Given the description of an element on the screen output the (x, y) to click on. 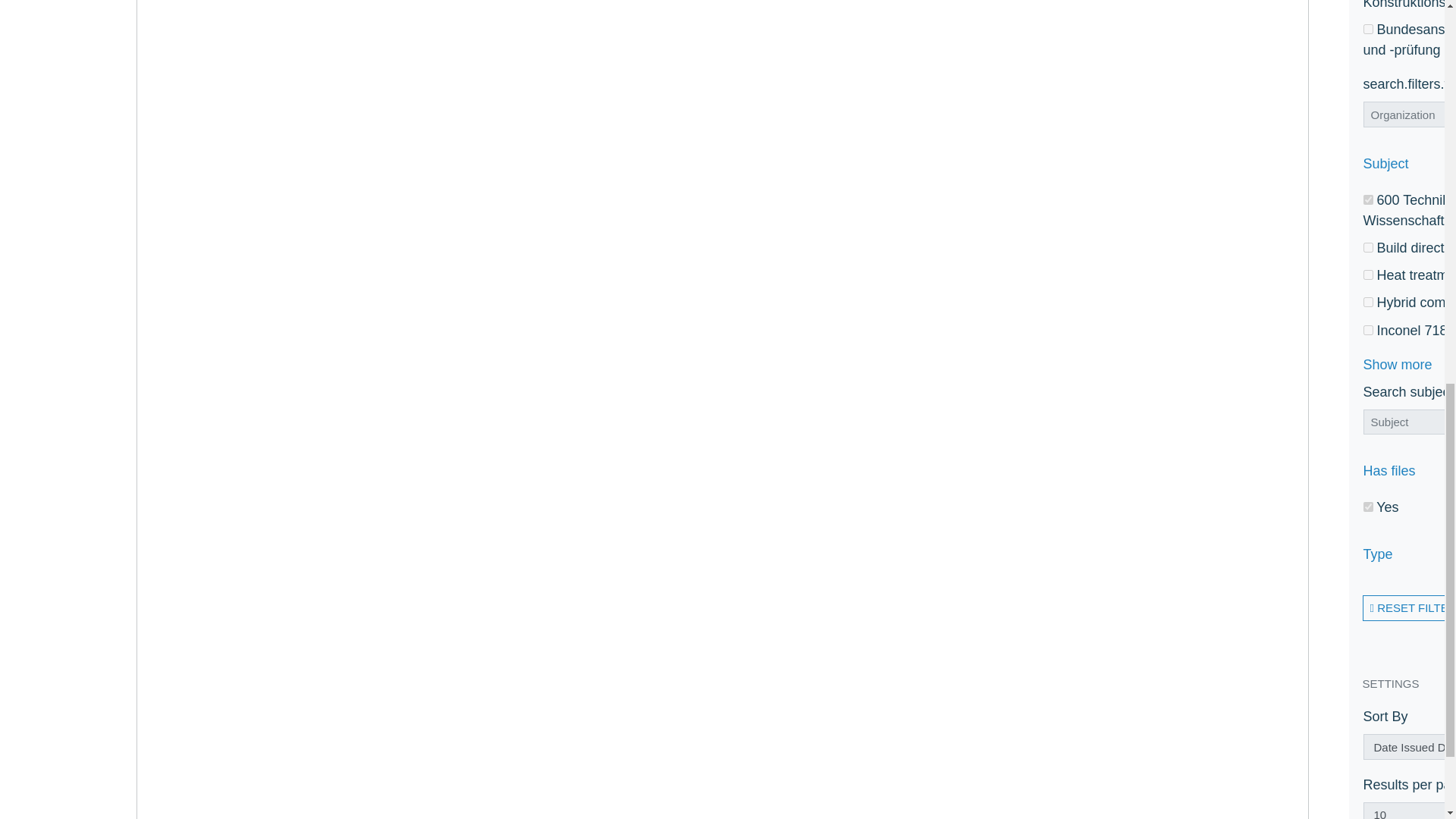
on (1367, 302)
on (1367, 275)
on (1367, 329)
on (1367, 29)
on (1367, 247)
on (1367, 506)
Subject (1409, 166)
on (1367, 199)
